Given the description of an element on the screen output the (x, y) to click on. 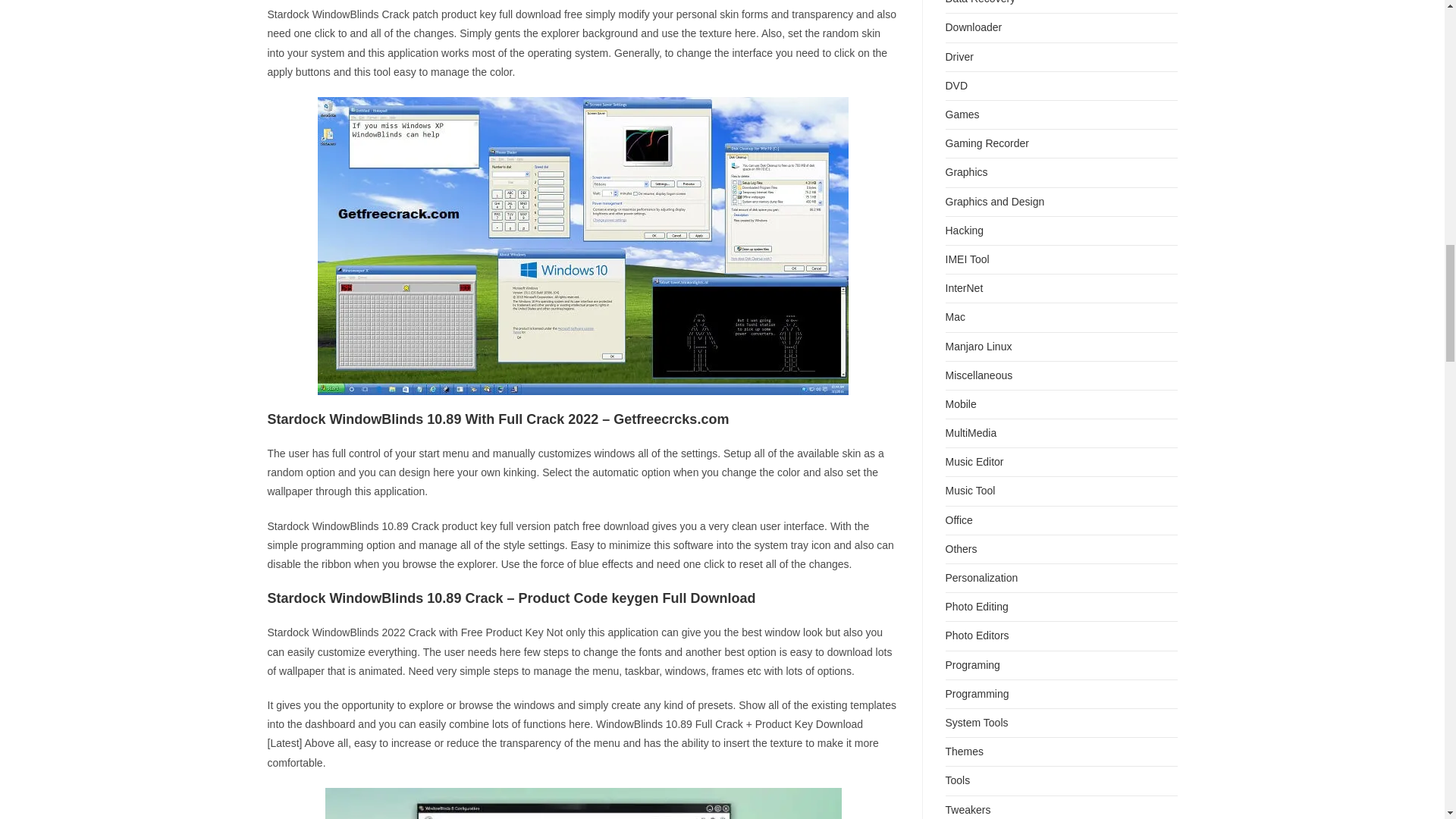
WindowBlinds Serial Number With Keys (582, 803)
